Given the description of an element on the screen output the (x, y) to click on. 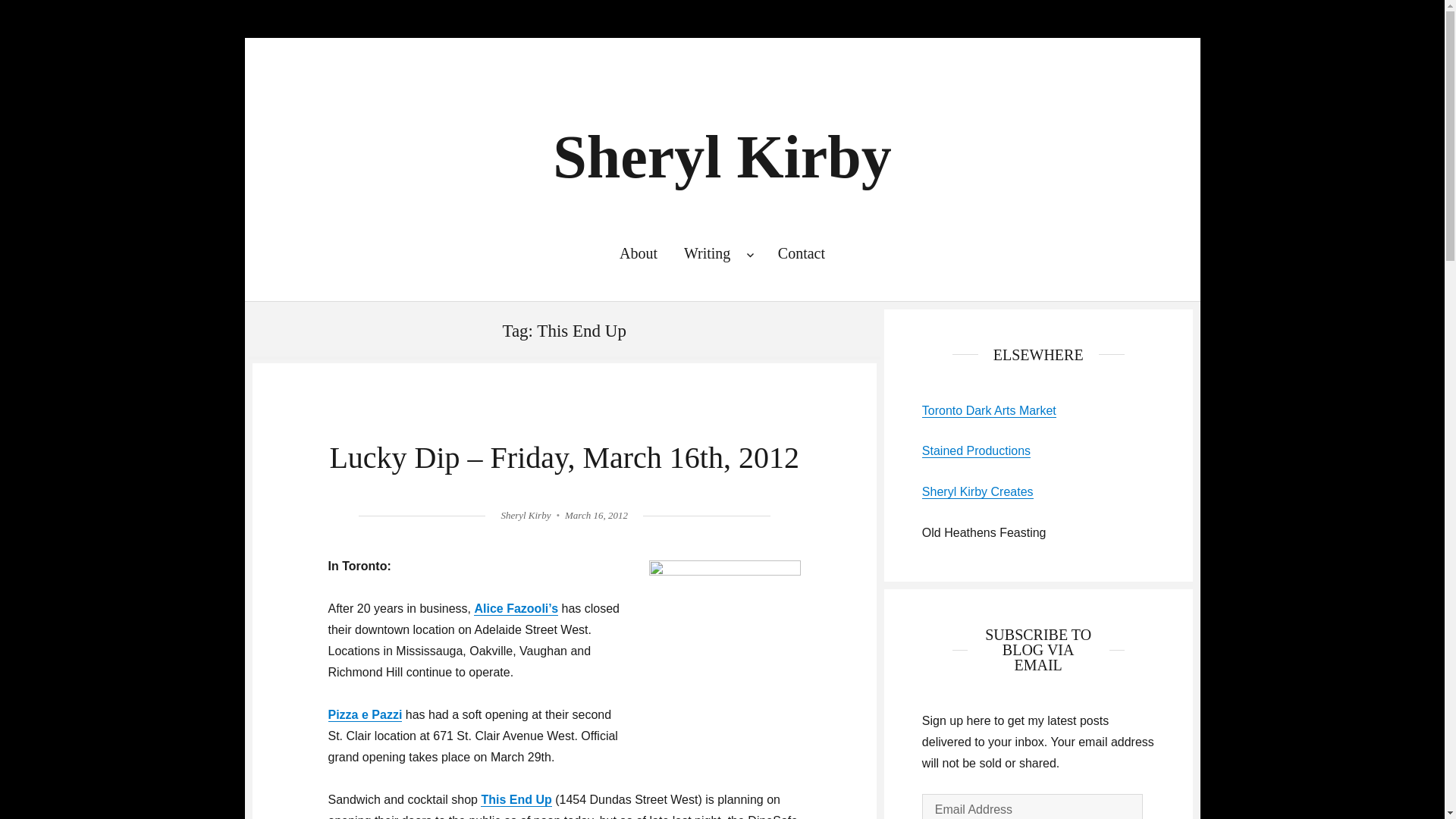
Pizza e Pazzi (364, 714)
This End Up (515, 799)
Contact (801, 253)
About (637, 253)
Writing (716, 253)
Sheryl Kirby (722, 156)
Sheryl Kirby (525, 514)
March 16, 2012 (595, 514)
